Given the description of an element on the screen output the (x, y) to click on. 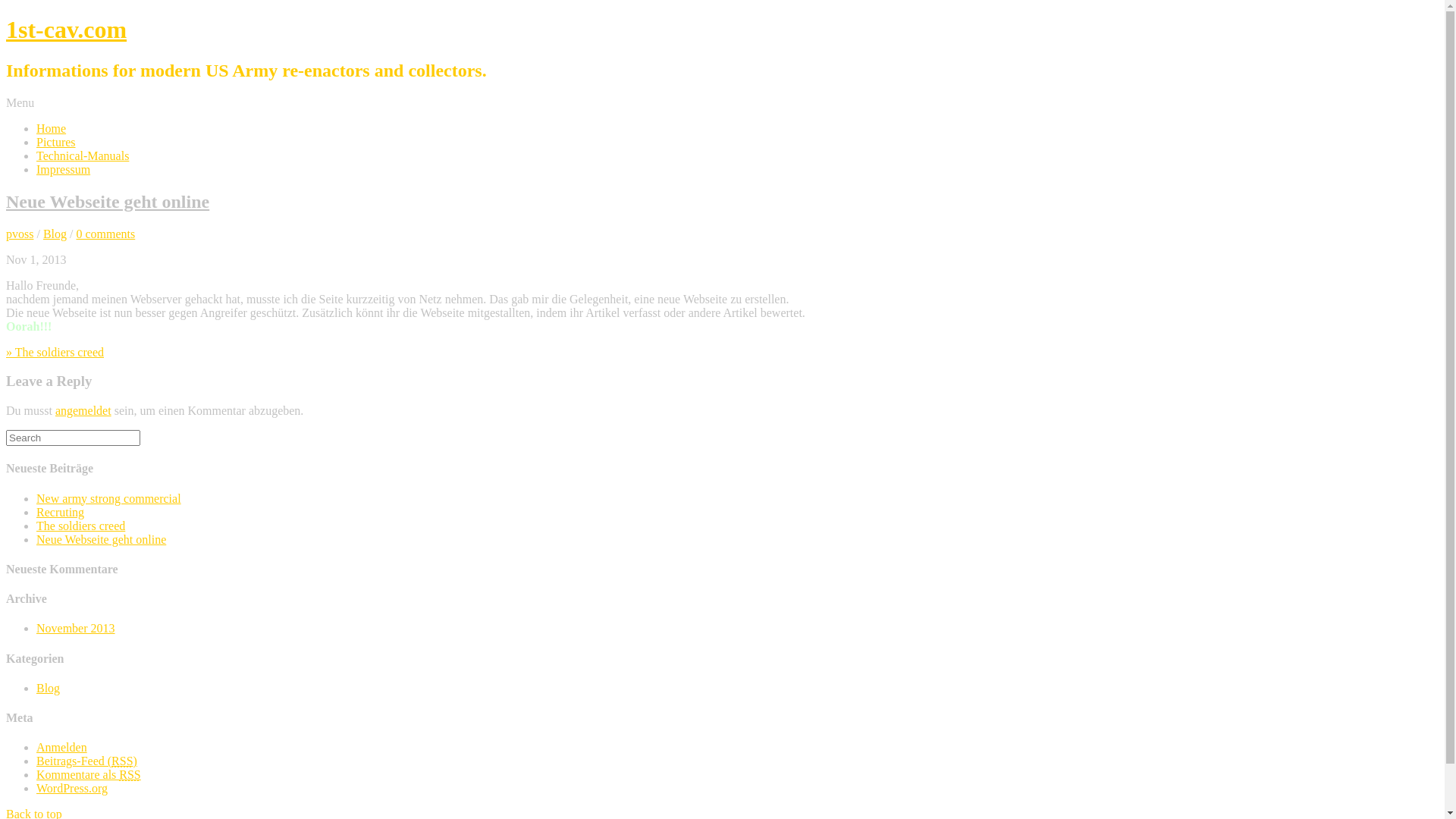
Neue Webseite geht online Element type: text (101, 539)
Pictures Element type: text (55, 141)
Technical-Manuals Element type: text (82, 155)
Blog Element type: text (54, 233)
Neue Webseite geht online Element type: text (107, 201)
New army strong commercial Element type: text (108, 498)
Impressum Element type: text (63, 169)
0 comments Element type: text (104, 233)
angemeldet Element type: text (83, 410)
Kommentare als RSS Element type: text (88, 774)
pvoss Element type: text (19, 233)
The soldiers creed Element type: text (80, 525)
Blog Element type: text (47, 687)
Anmelden Element type: text (61, 746)
1st-cav.com Element type: text (66, 29)
Home Element type: text (50, 128)
November 2013 Element type: text (75, 627)
Recruting Element type: text (60, 511)
Beitrags-Feed (RSS) Element type: text (86, 760)
WordPress.org Element type: text (71, 787)
